Given the description of an element on the screen output the (x, y) to click on. 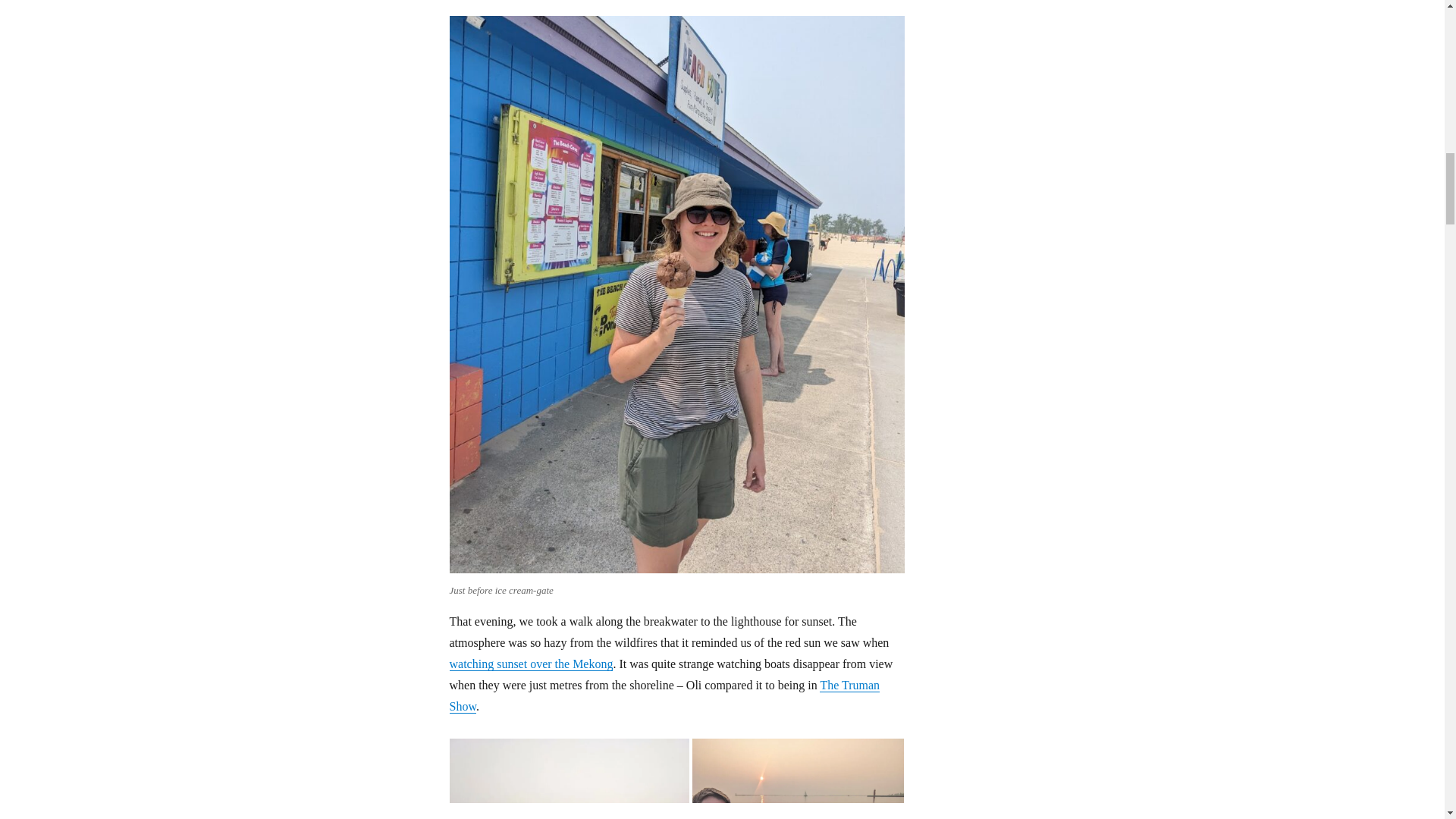
watching sunset over the Mekong (530, 663)
The Truman Show (663, 695)
